Given the description of an element on the screen output the (x, y) to click on. 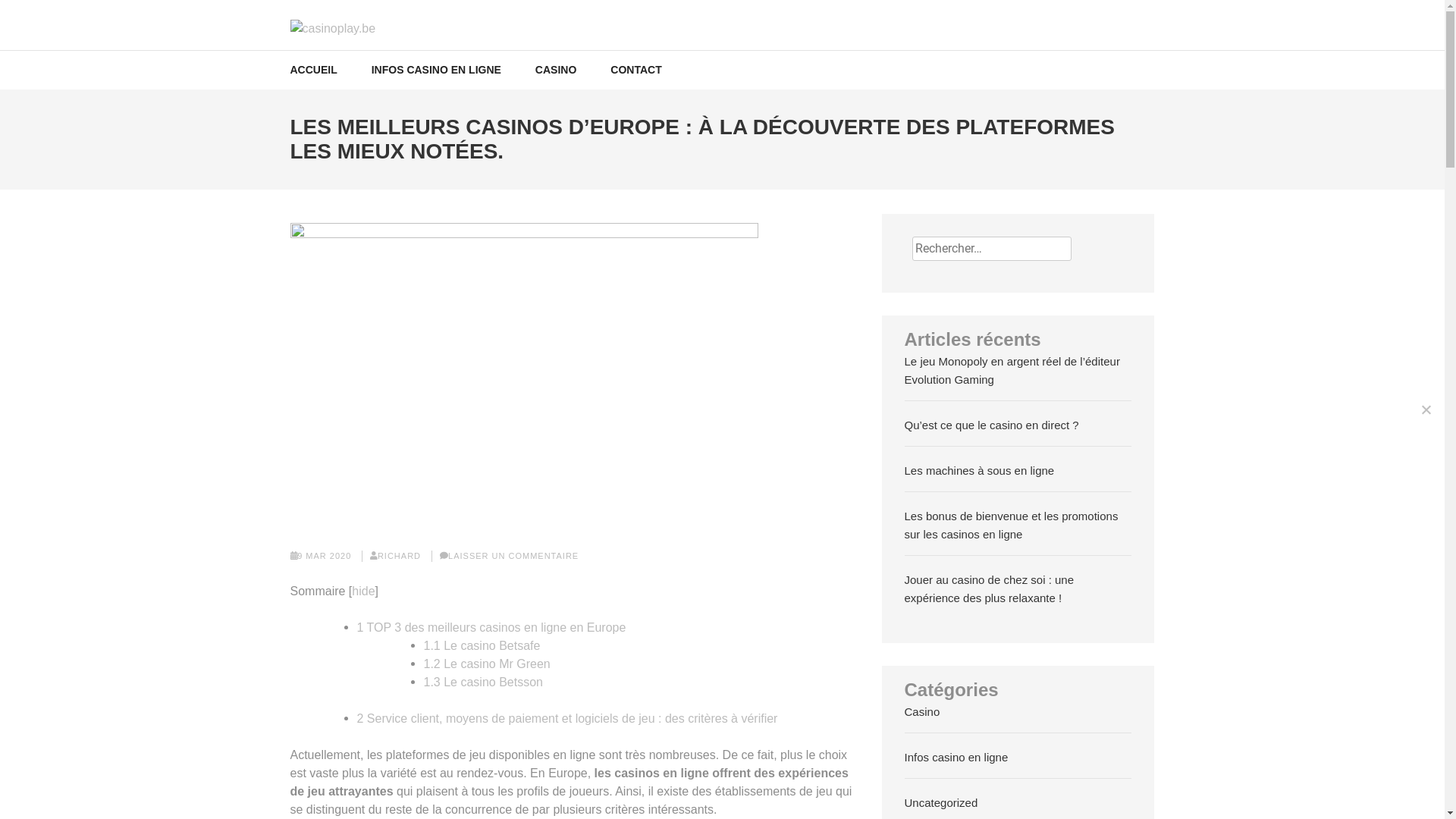
Uncategorized Element type: text (941, 802)
RICHARD Element type: text (398, 555)
1.1 Le casino Betsafe Element type: text (481, 645)
ACCUEIL Element type: text (312, 69)
9 MAR 2020 Element type: text (324, 555)
hide Element type: text (362, 590)
Infos casino en ligne Element type: text (956, 756)
1.3 Le casino Betsson Element type: text (482, 681)
CASINOPLAY.BE Element type: text (398, 52)
CASINO Element type: text (555, 69)
Casino Element type: text (922, 711)
CONTACT Element type: text (635, 69)
INFOS CASINO EN LIGNE Element type: text (436, 69)
1 TOP 3 des meilleurs casinos en ligne en Europe Element type: text (490, 627)
LAISSER UN COMMENTAIRE Element type: text (513, 555)
Rechercher Element type: text (1428, 19)
1.2 Le casino Mr Green Element type: text (486, 663)
